Given the description of an element on the screen output the (x, y) to click on. 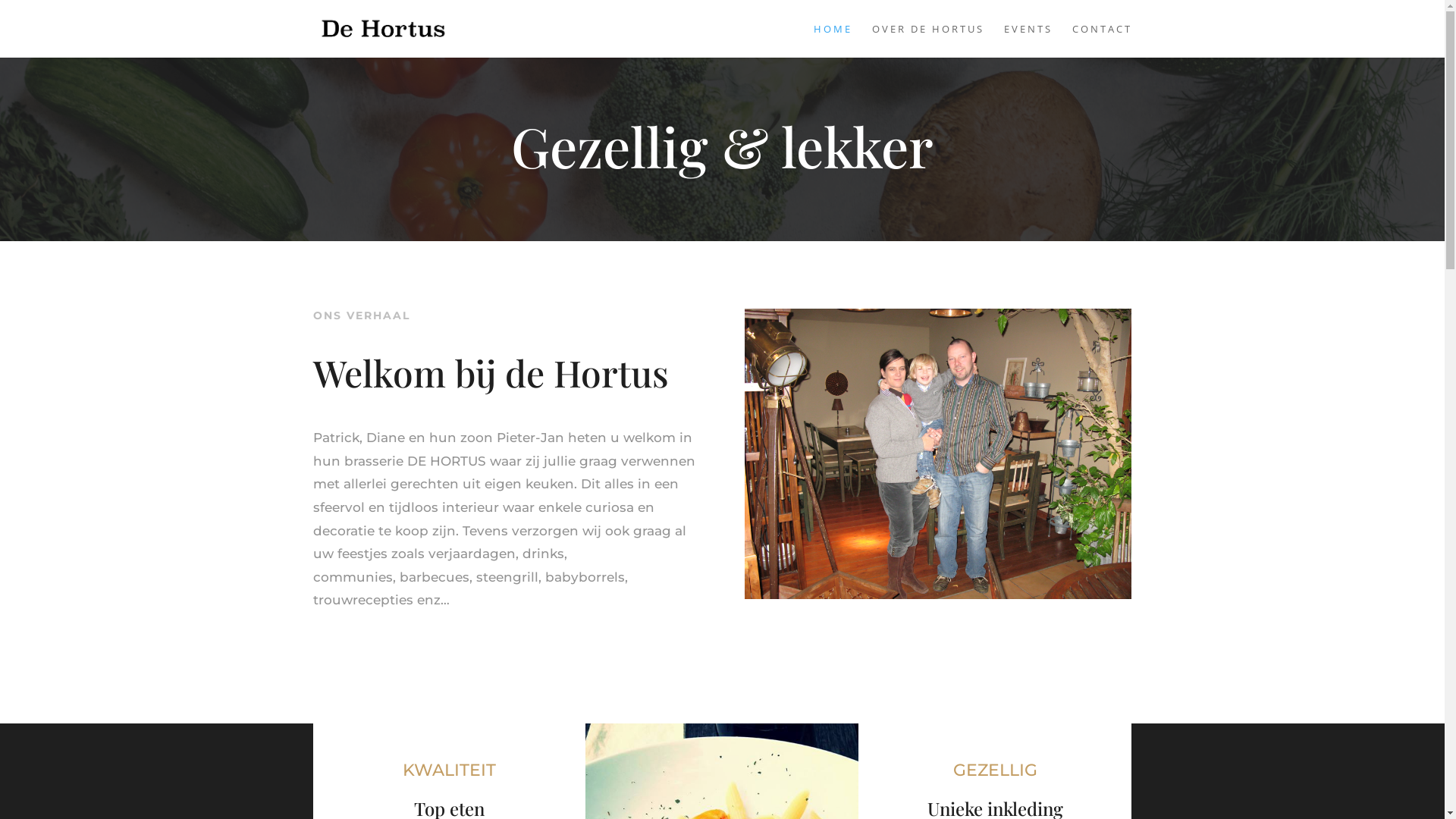
HOME Element type: text (831, 40)
OVER DE HORTUS Element type: text (928, 40)
EVENTS Element type: text (1028, 40)
CONTACT Element type: text (1102, 40)
